Given the description of an element on the screen output the (x, y) to click on. 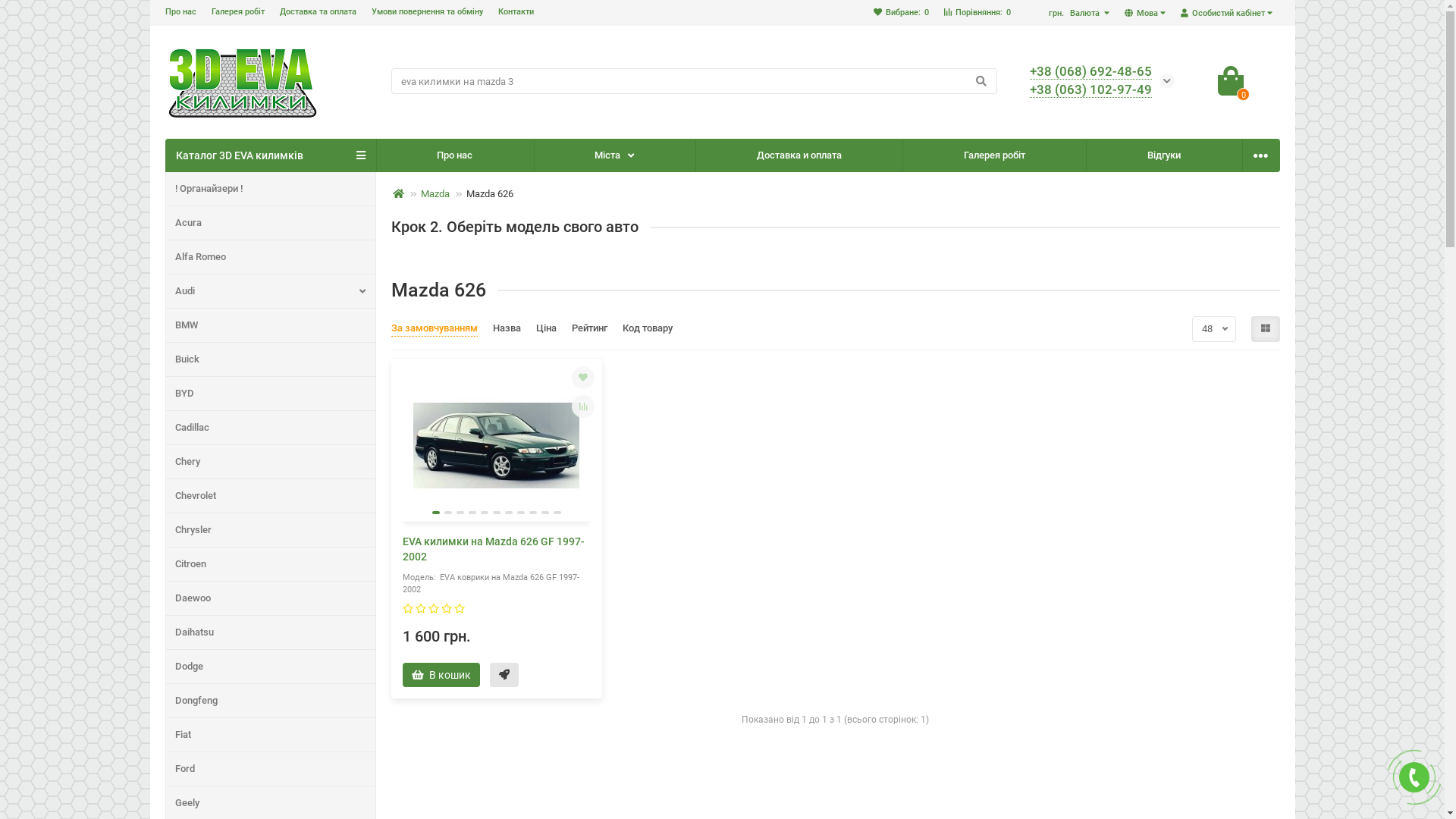
Chery Element type: text (269, 461)
Acura Element type: text (269, 222)
Chevrolet Element type: text (269, 495)
Daewoo Element type: text (269, 598)
BYD Element type: text (269, 393)
Daihatsu Element type: text (269, 632)
Mazda Element type: text (434, 193)
Ford Element type: text (269, 768)
Citroen Element type: text (269, 563)
Audi Element type: text (269, 290)
Fiat Element type: text (269, 734)
BMW Element type: text (269, 325)
Chrysler Element type: text (269, 529)
Dodge Element type: text (269, 666)
Alfa Romeo Element type: text (269, 256)
Buick Element type: text (269, 359)
Cadillac Element type: text (269, 427)
Dongfeng Element type: text (269, 700)
0 Element type: text (1230, 80)
